Given the description of an element on the screen output the (x, y) to click on. 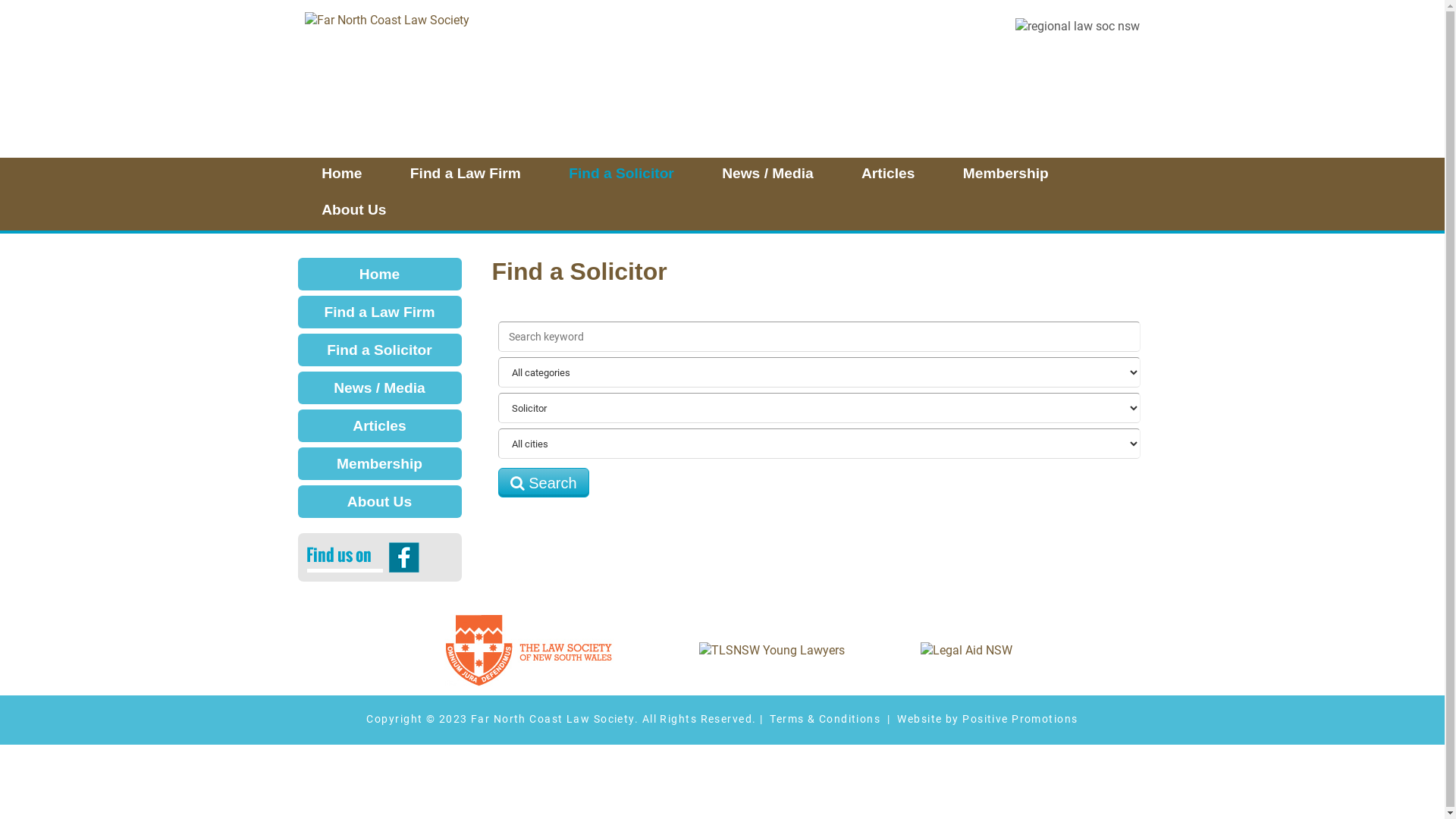
Find a Law Firm Element type: text (379, 311)
Membership Element type: text (1005, 175)
Home Element type: text (341, 175)
Positive Promotions Element type: text (1019, 718)
Find a Solicitor Element type: text (621, 175)
Home Element type: text (379, 273)
Find a Solicitor Element type: text (379, 349)
Articles Element type: text (887, 175)
About Us Element type: text (379, 501)
Articles Element type: text (379, 425)
Find a Law Firm Element type: text (464, 175)
Terms & Conditions Element type: text (824, 718)
News / Media Element type: text (767, 175)
Membership Element type: text (379, 463)
About Us Element type: text (353, 212)
News / Media Element type: text (379, 387)
Search Element type: text (543, 482)
